Given the description of an element on the screen output the (x, y) to click on. 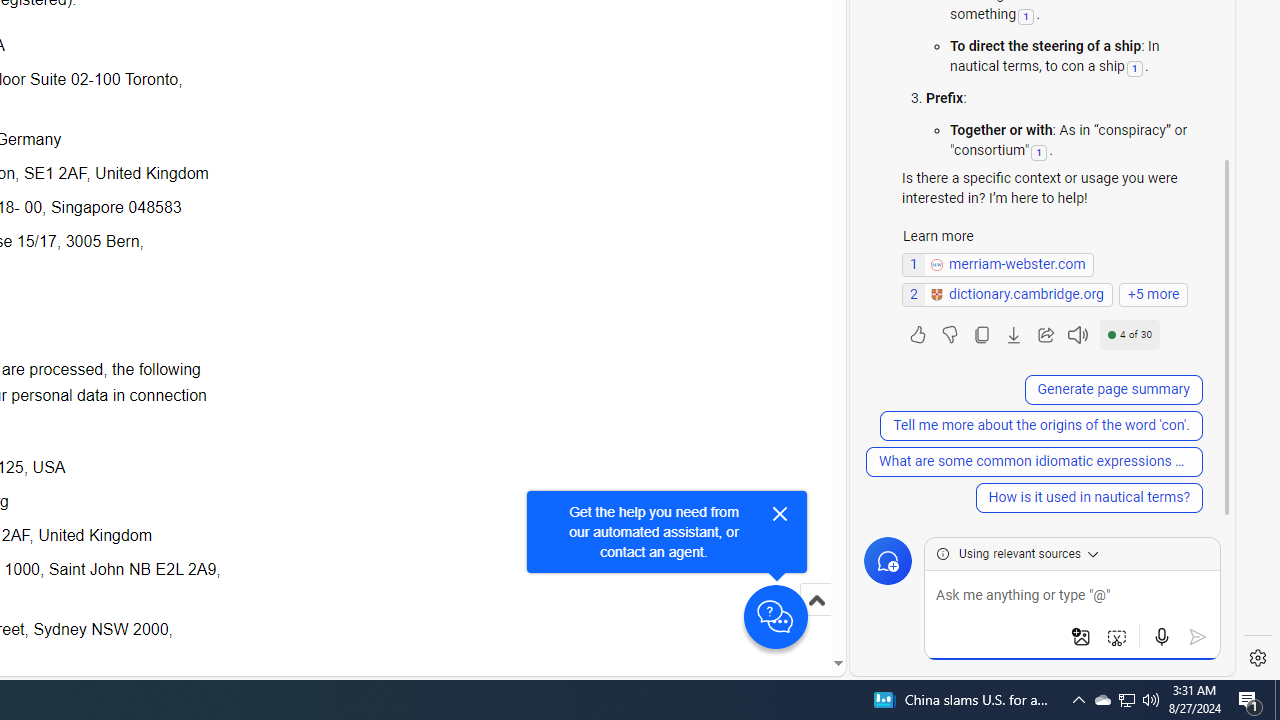
Scroll to top (816, 620)
Scroll to top (816, 599)
